Given the description of an element on the screen output the (x, y) to click on. 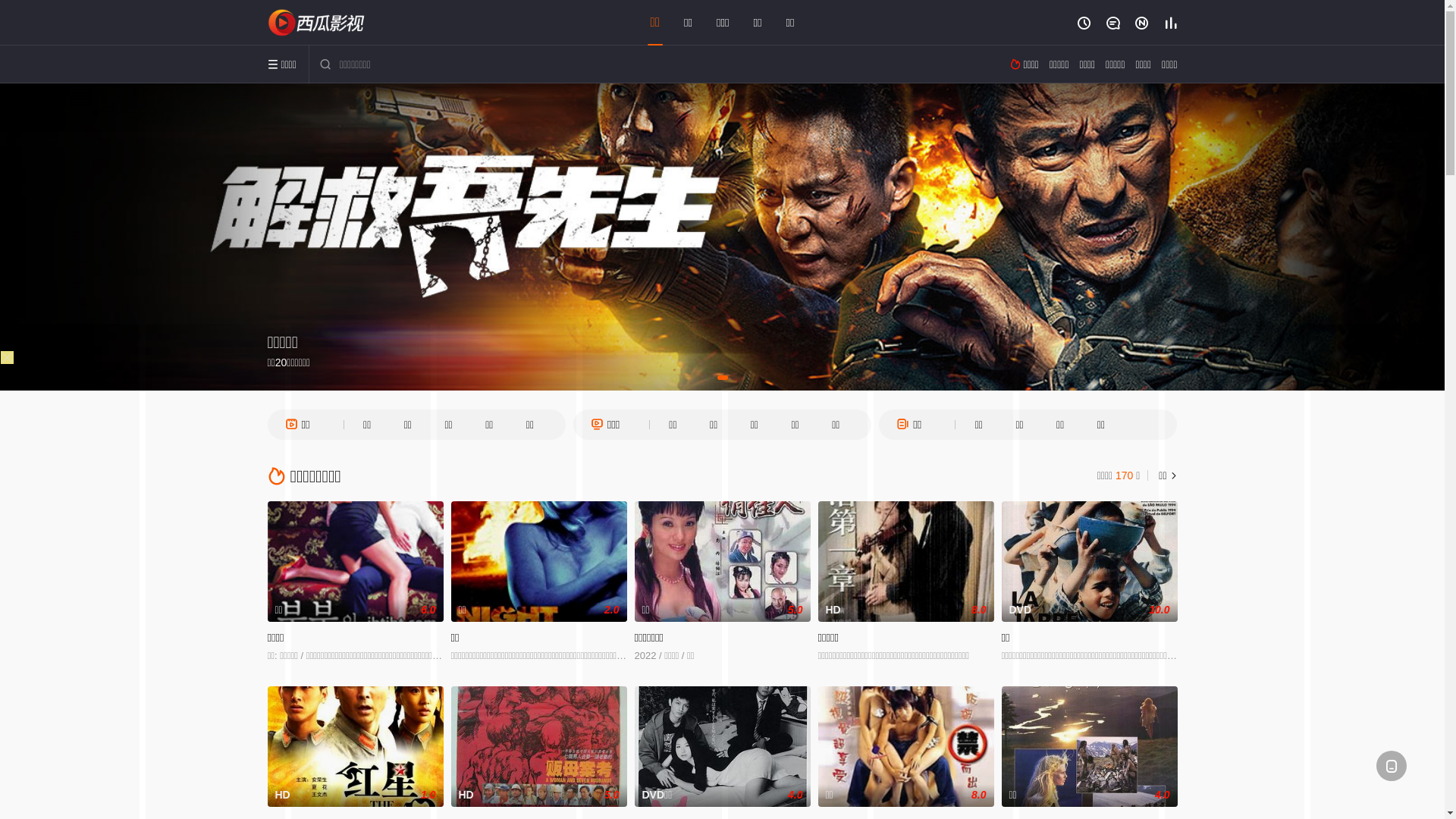
DVD
10.0 Element type: text (1088, 561)
HD
8.0 Element type: text (905, 561)
HD
1.0 Element type: text (354, 746)
HD
5.0 Element type: text (538, 746)
